Given the description of an element on the screen output the (x, y) to click on. 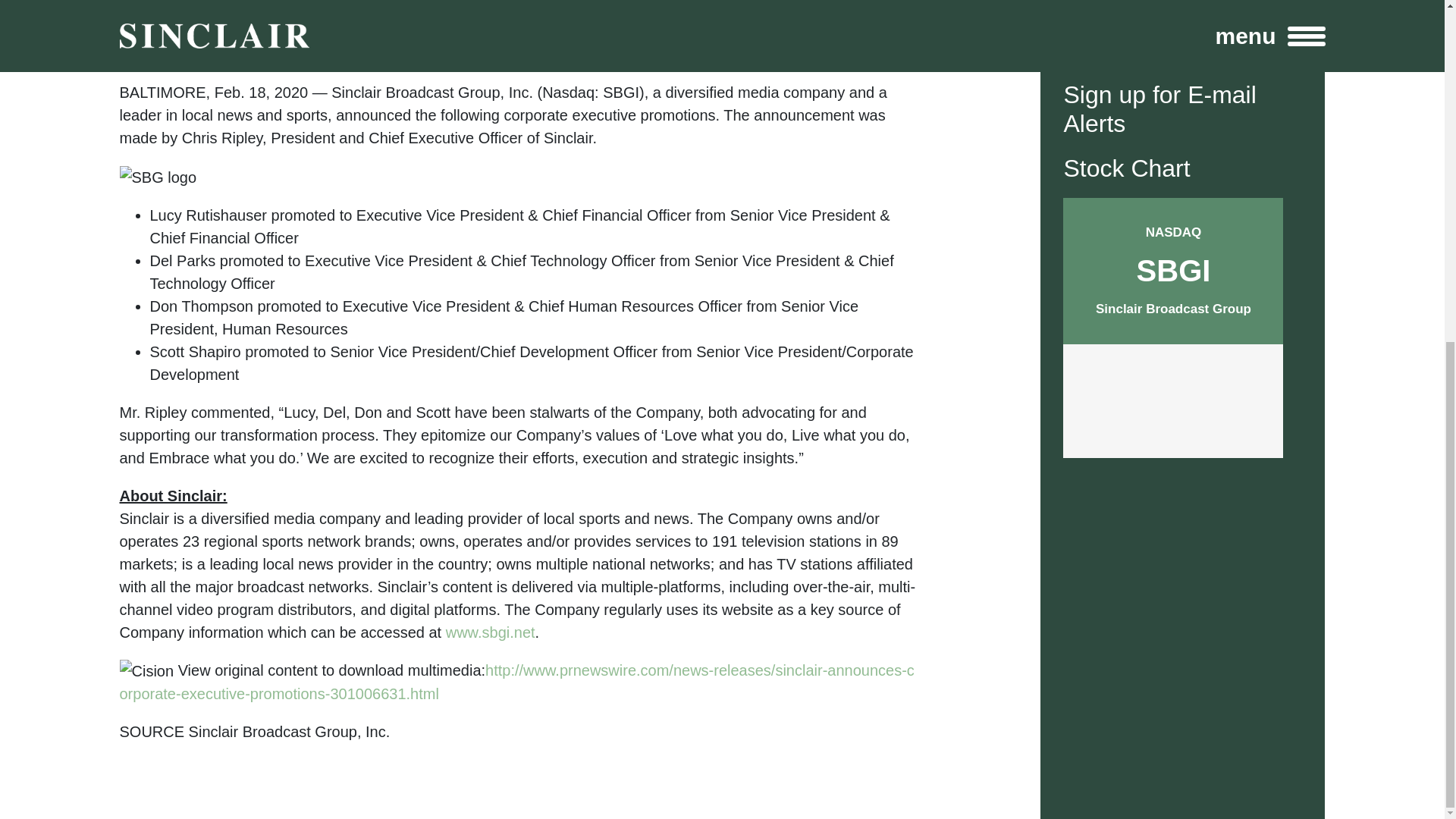
Cision ID (146, 671)
SBG logo (157, 177)
